Given the description of an element on the screen output the (x, y) to click on. 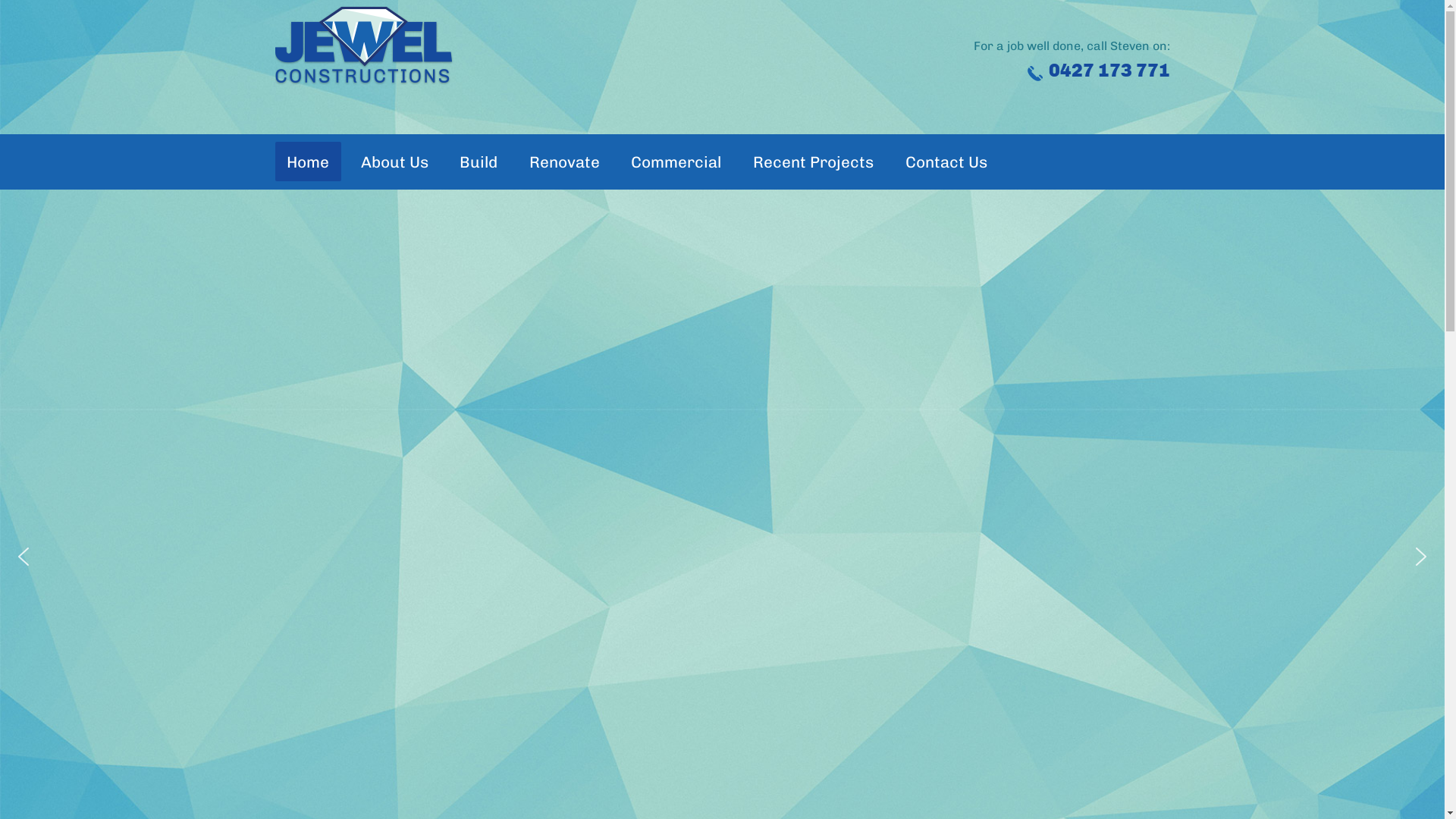
Recent Projects Element type: text (812, 161)
About Us Element type: text (393, 161)
Contact Us Element type: text (945, 161)
Renovate Element type: text (564, 161)
0427 173 771 Element type: text (1108, 70)
Home Element type: text (307, 161)
Build Element type: text (478, 161)
Commercial Element type: text (676, 161)
